Given the description of an element on the screen output the (x, y) to click on. 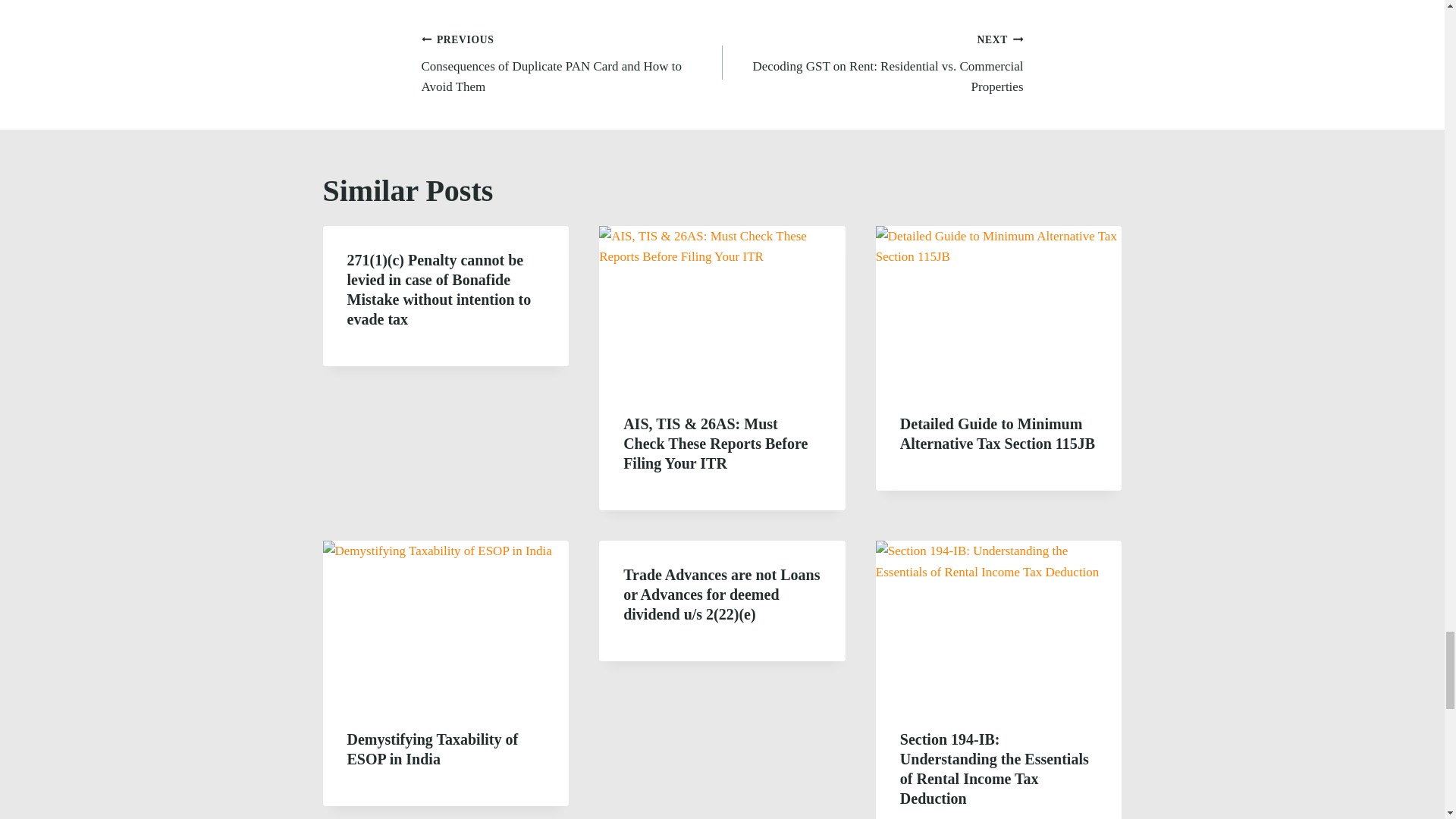
Detailed Guide to Minimum Alternative Tax Section 115JB (996, 433)
